Given the description of an element on the screen output the (x, y) to click on. 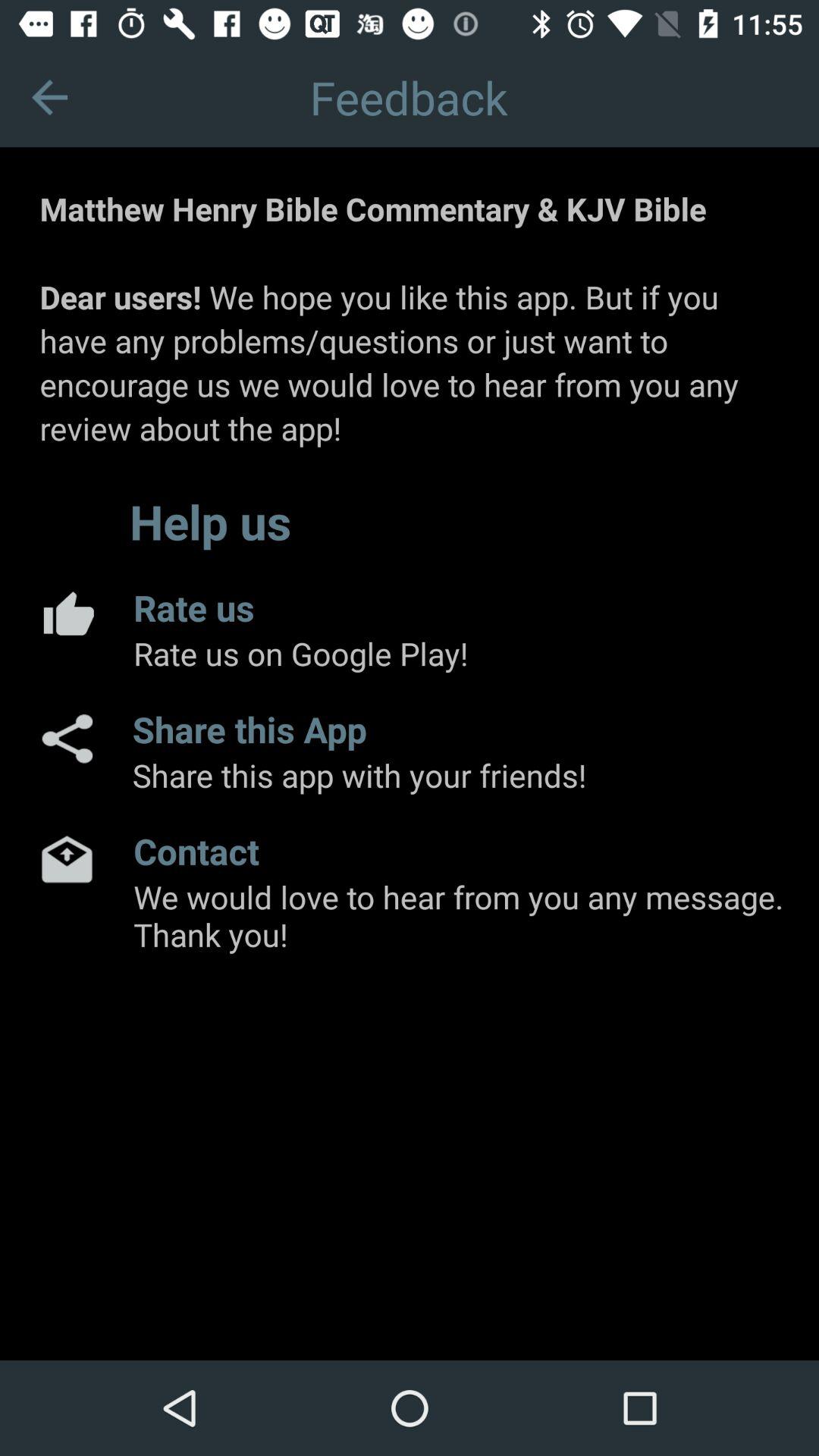
rate the app (66, 613)
